Given the description of an element on the screen output the (x, y) to click on. 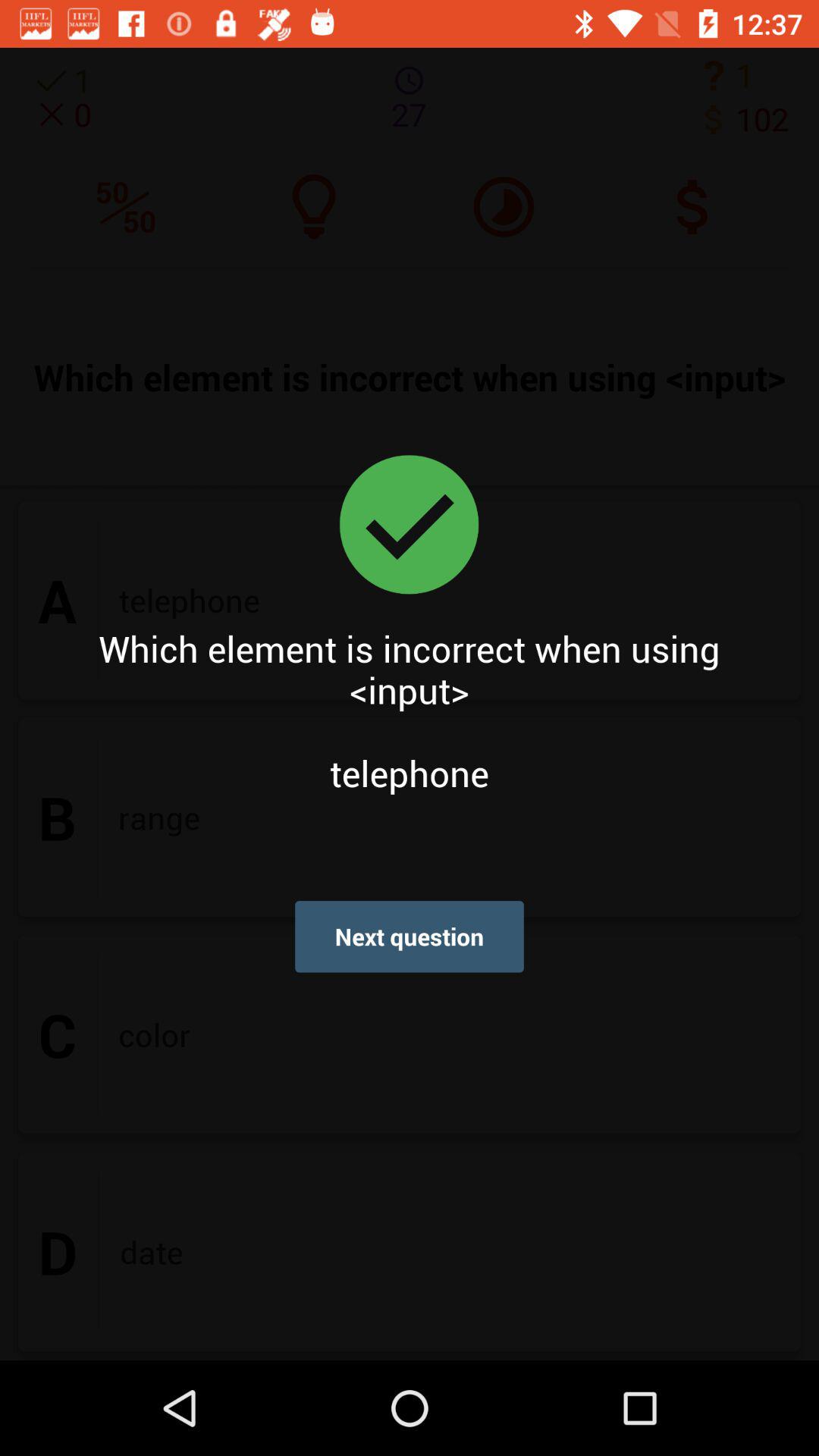
press icon below which element is icon (409, 936)
